Given the description of an element on the screen output the (x, y) to click on. 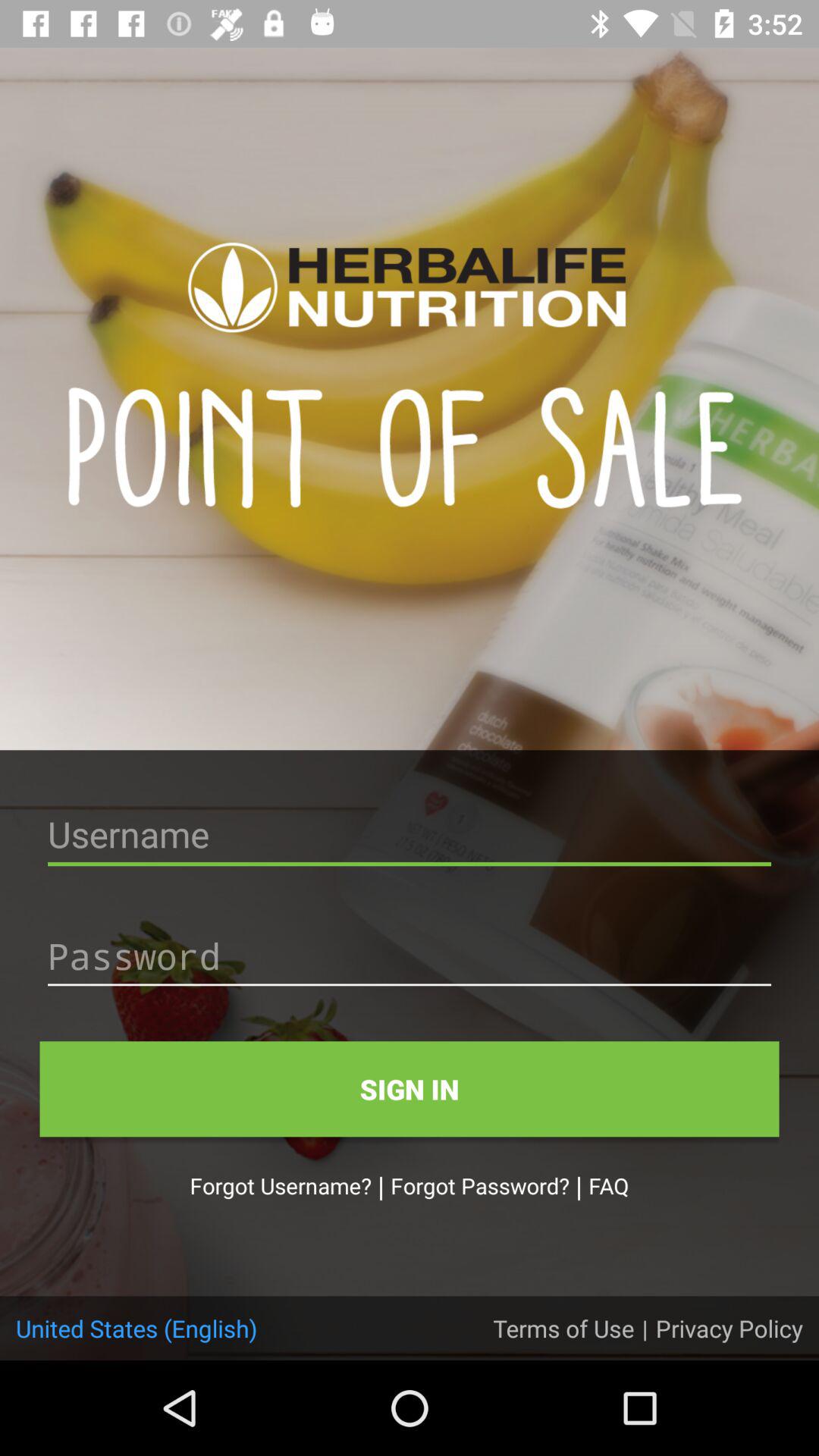
swipe until terms of use (563, 1328)
